Given the description of an element on the screen output the (x, y) to click on. 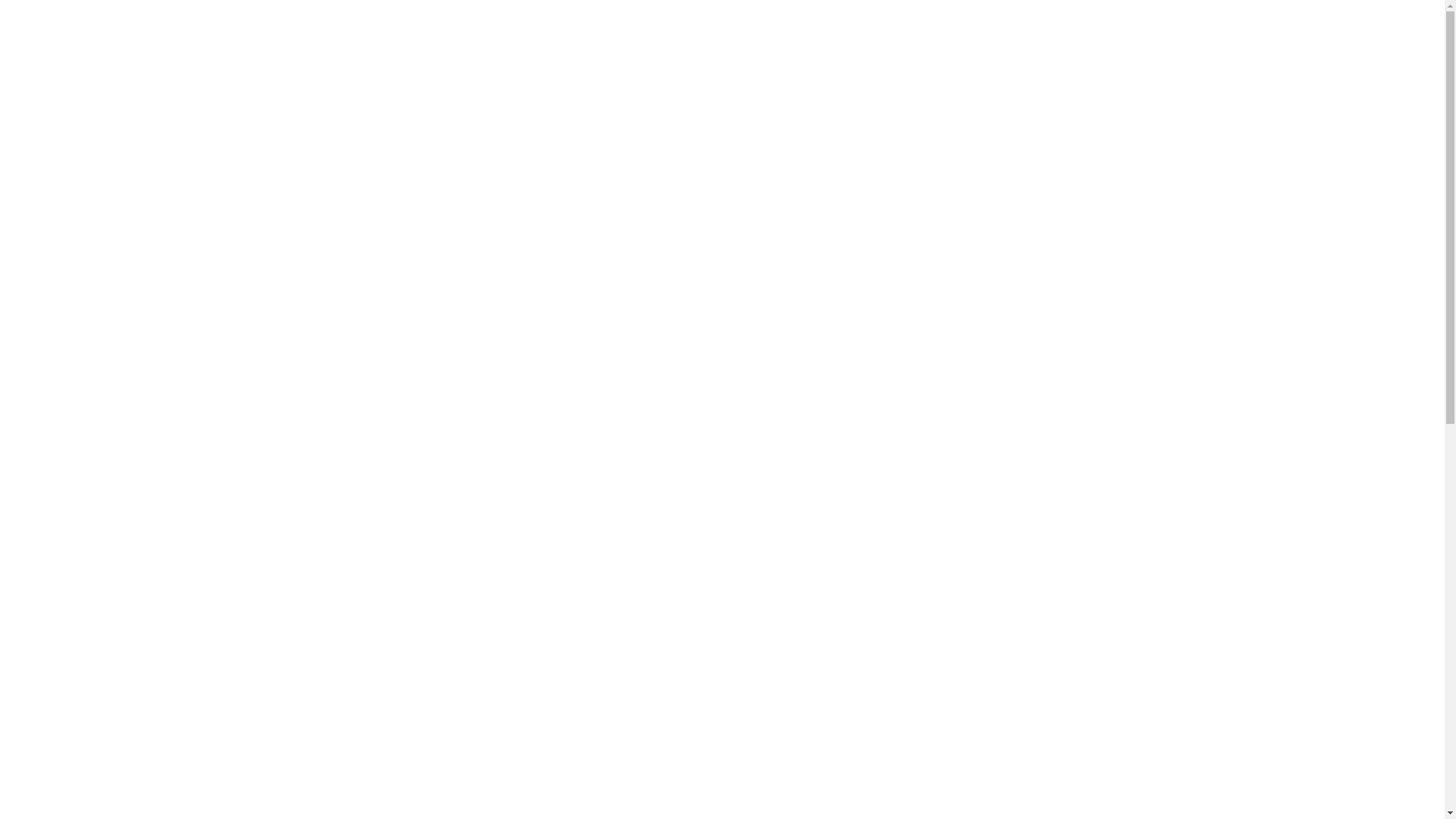
RENDEZ-VOUS Element type: text (771, 84)
ACCUEIL Element type: text (501, 56)
CONTACT Element type: text (963, 56)
ET SI VOUS AVIEZ UNE BAGUETTE MAGIQUE? Element type: text (591, 81)
SOINS POUR LUI Element type: text (751, 56)
Accueil Element type: text (674, 292)
SOINS POUR ELLE Element type: text (617, 56)
